Given the description of an element on the screen output the (x, y) to click on. 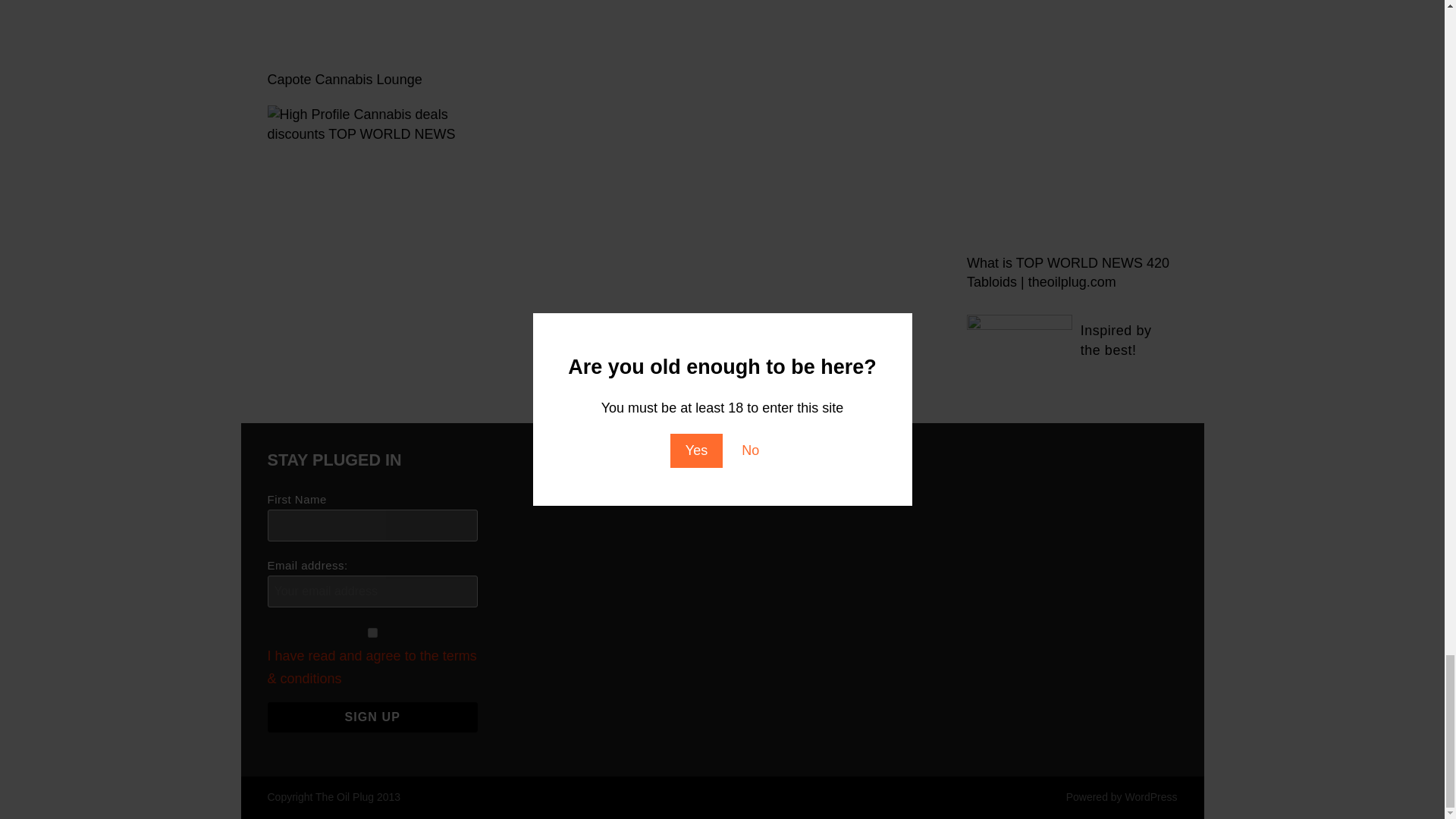
Sign up (371, 716)
1 (371, 633)
